Given the description of an element on the screen output the (x, y) to click on. 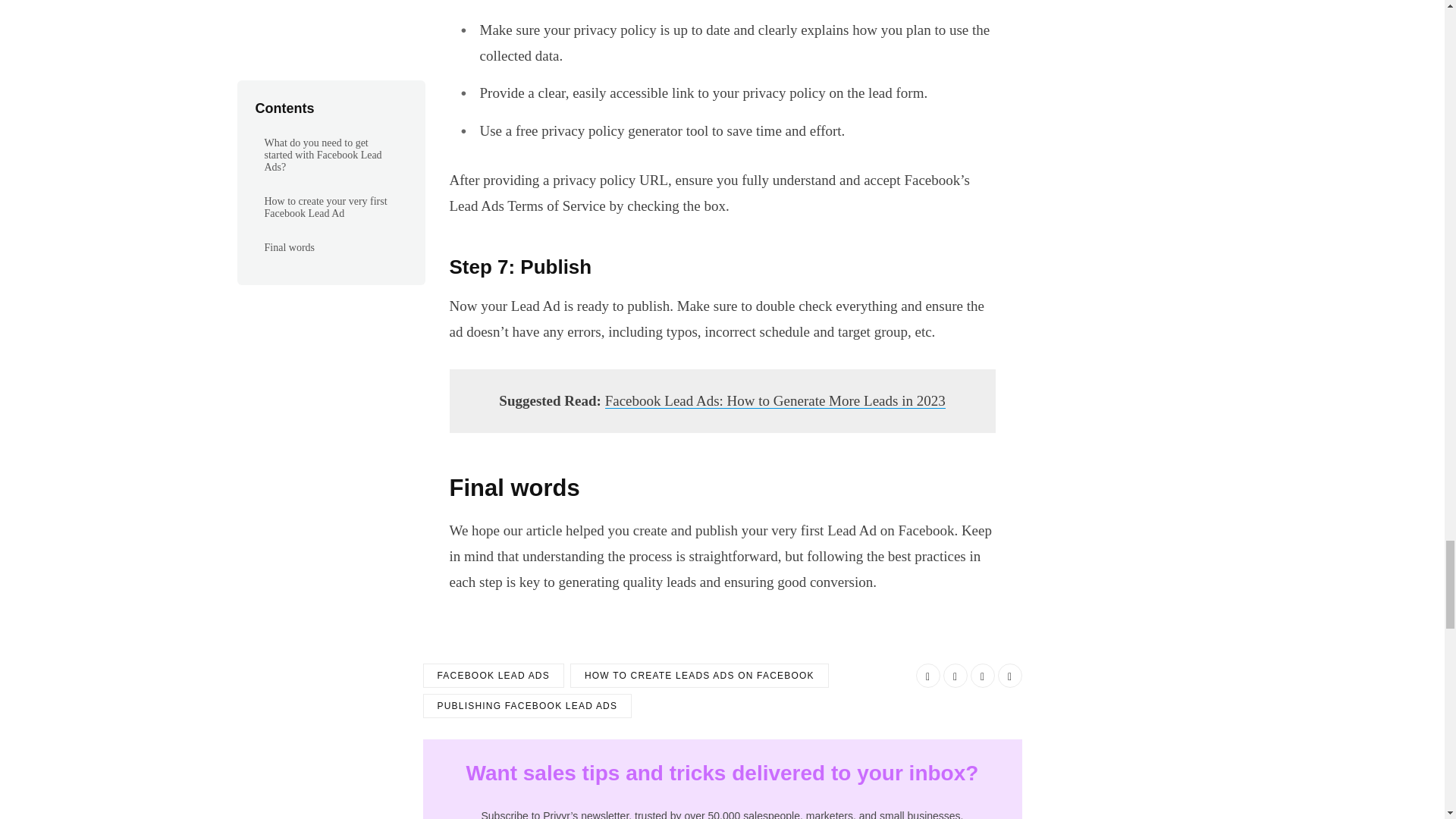
Final words (721, 488)
HOW TO CREATE LEADS ADS ON FACEBOOK (699, 675)
PUBLISHING FACEBOOK LEAD ADS (527, 705)
Facebook Lead Ads: How to Generate More Leads in 2023 (774, 400)
FACEBOOK LEAD ADS (493, 675)
Share on Facebook (927, 675)
Pinterest (1009, 675)
LinkedIn (982, 675)
Share on Twitter (955, 675)
